Given the description of an element on the screen output the (x, y) to click on. 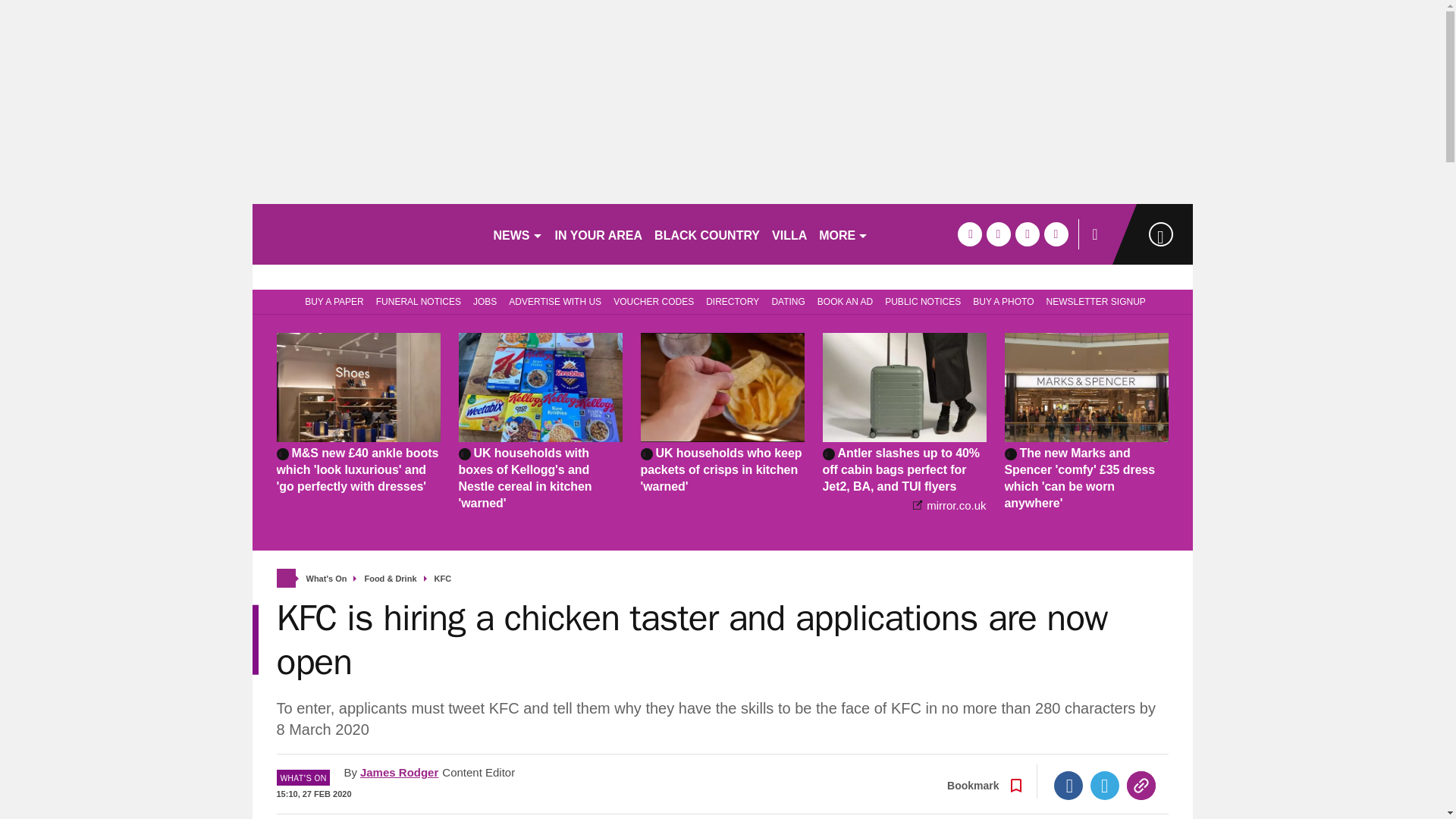
MORE (843, 233)
birminghammail (365, 233)
twitter (997, 233)
NEWS (517, 233)
IN YOUR AREA (598, 233)
tiktok (1026, 233)
Facebook (1068, 785)
instagram (1055, 233)
Twitter (1104, 785)
BLACK COUNTRY (706, 233)
facebook (968, 233)
